Given the description of an element on the screen output the (x, y) to click on. 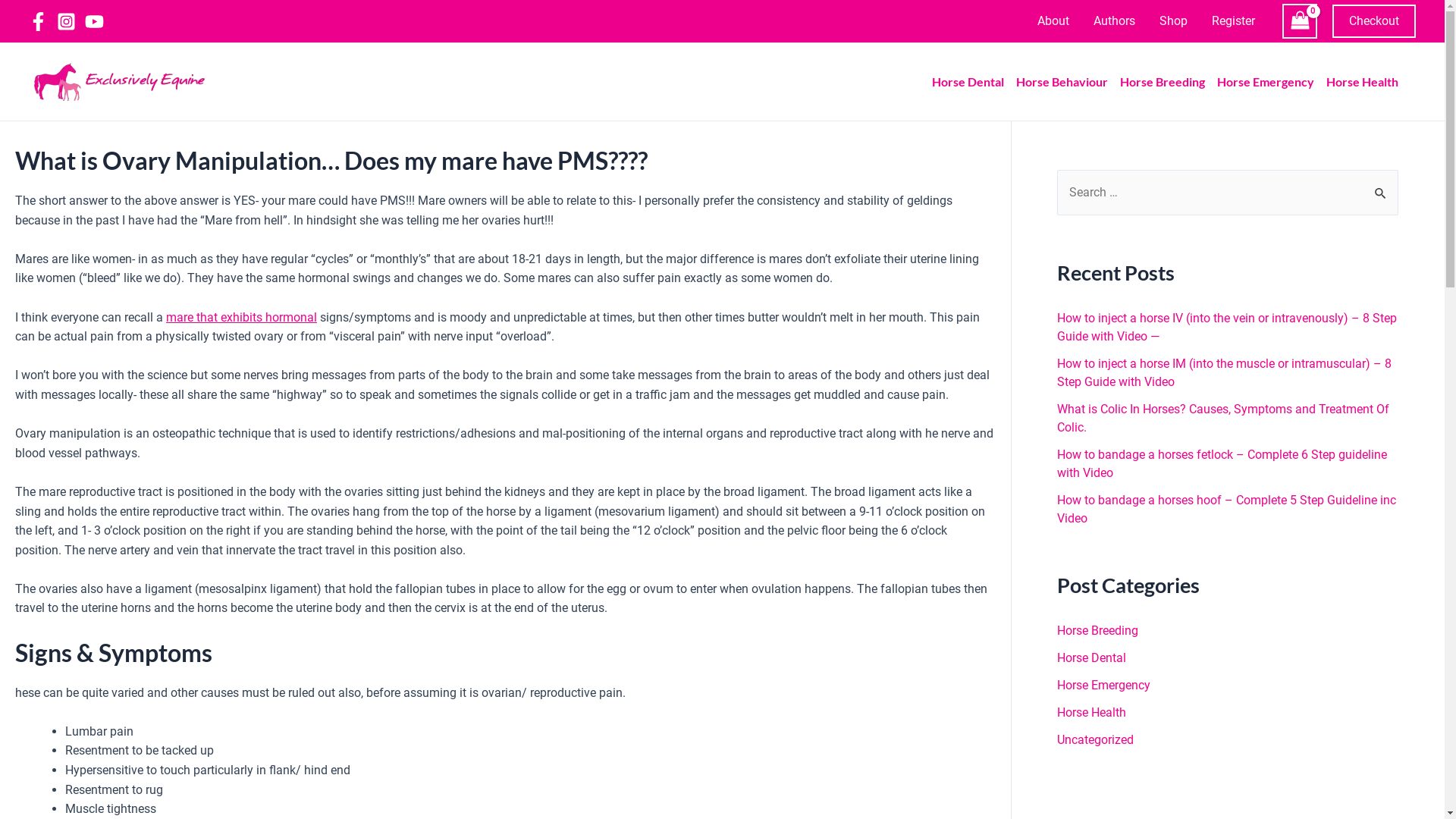
Register Element type: text (1233, 21)
Authors Element type: text (1114, 21)
Checkout Element type: text (1373, 20)
Search Element type: text (1381, 185)
Horse Health Element type: text (1368, 81)
Horse Breeding Element type: text (1097, 630)
Horse Dental Element type: text (973, 81)
Shop Element type: text (1173, 21)
Horse Health Element type: text (1091, 712)
About Element type: text (1053, 21)
Horse Emergency Element type: text (1271, 81)
mare that exhibits hormonal Element type: text (241, 317)
Horse Emergency Element type: text (1103, 684)
Horse Behaviour Element type: text (1068, 81)
Horse Dental Element type: text (1091, 657)
Uncategorized Element type: text (1095, 739)
Horse Breeding Element type: text (1168, 81)
